Given the description of an element on the screen output the (x, y) to click on. 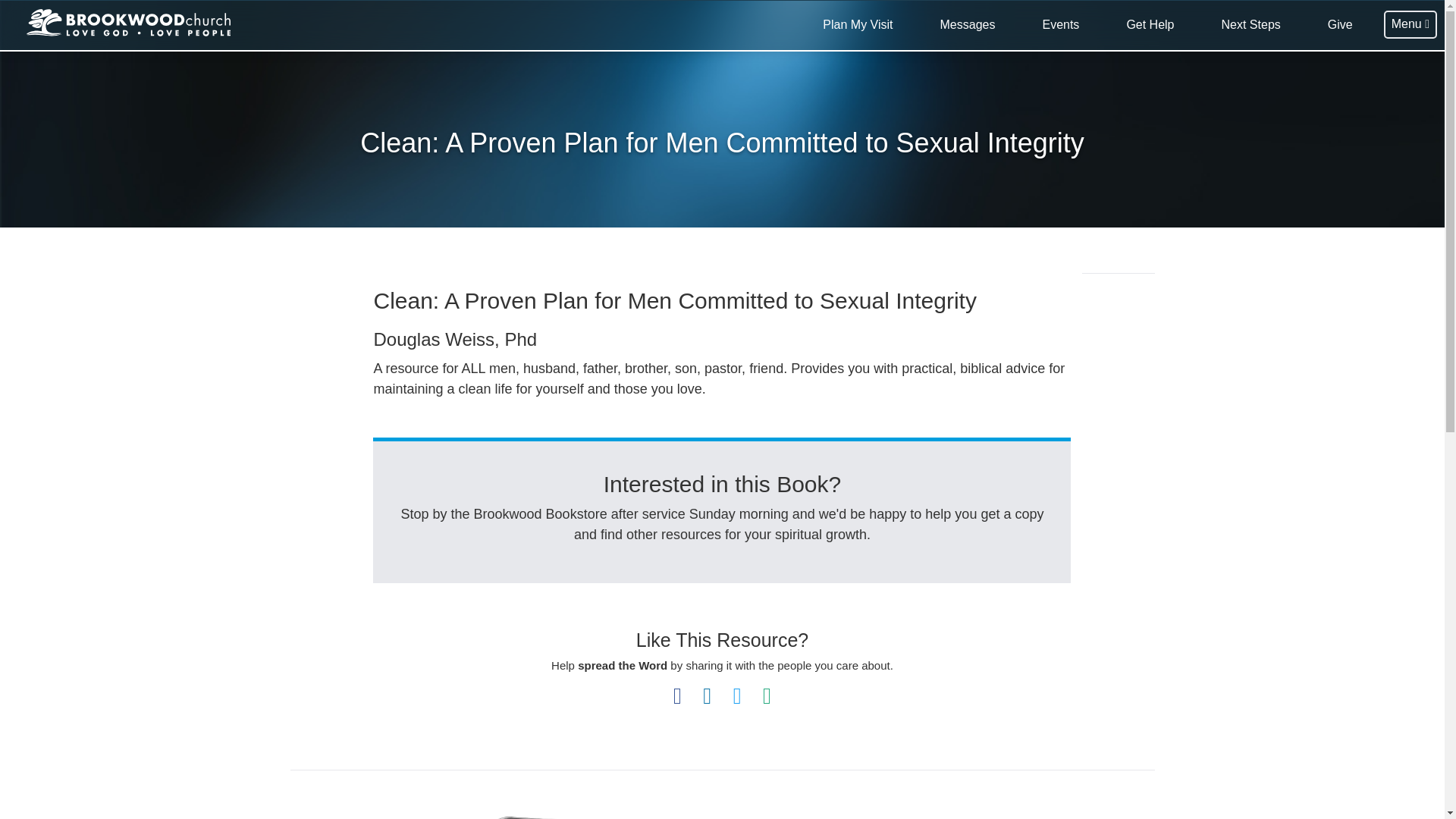
Next Steps (1251, 24)
Give (1339, 24)
Events (1059, 24)
Messages (968, 24)
Get Help (1149, 24)
Plan My Visit (857, 24)
